Given the description of an element on the screen output the (x, y) to click on. 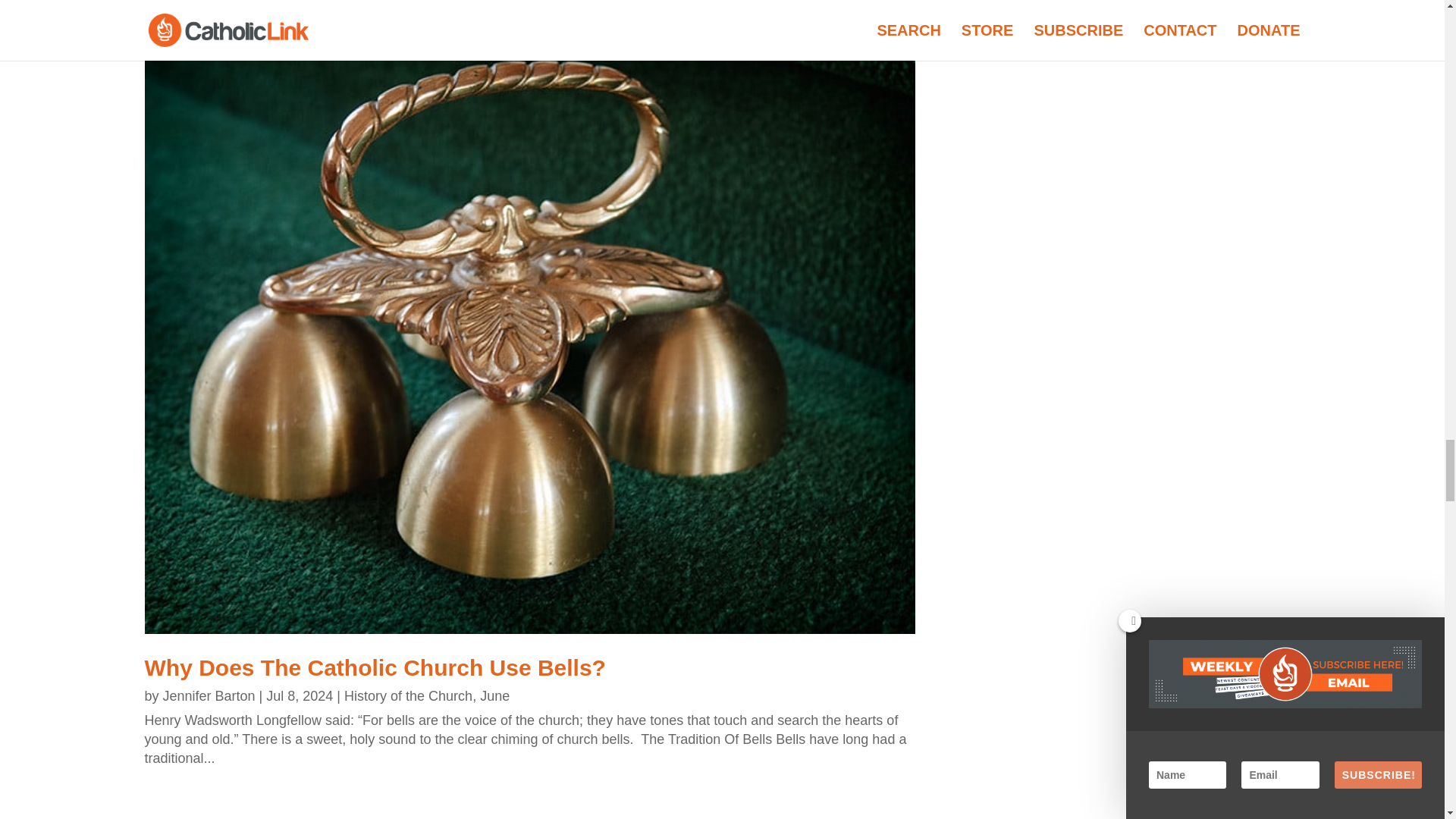
Posts by Jennifer Barton (209, 695)
